Given the description of an element on the screen output the (x, y) to click on. 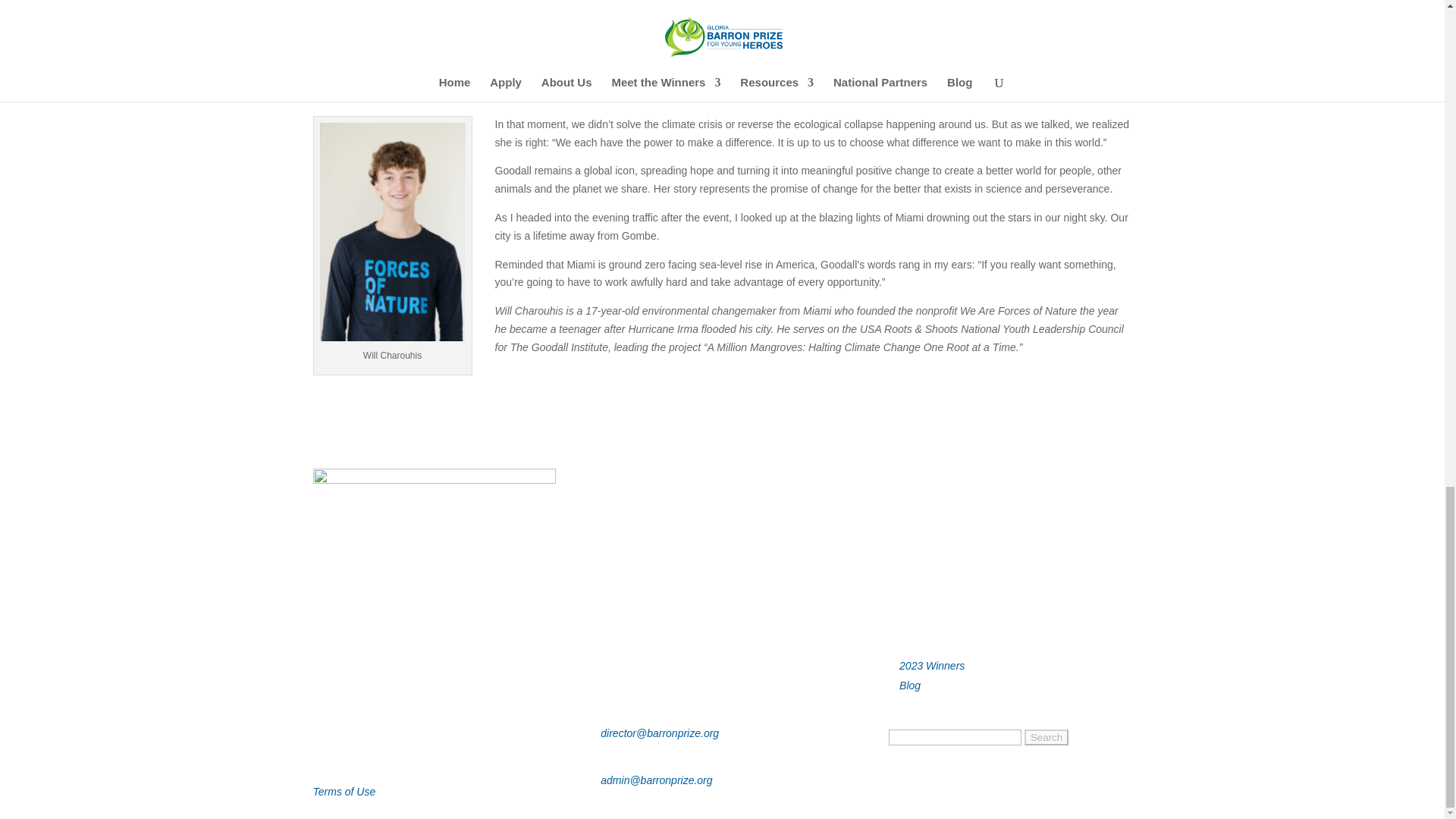
Follow on Instagram (354, 742)
Follow on Twitter (415, 742)
Follow on Youtube (384, 742)
Search (1046, 737)
Follow on Facebook (324, 742)
